Given the description of an element on the screen output the (x, y) to click on. 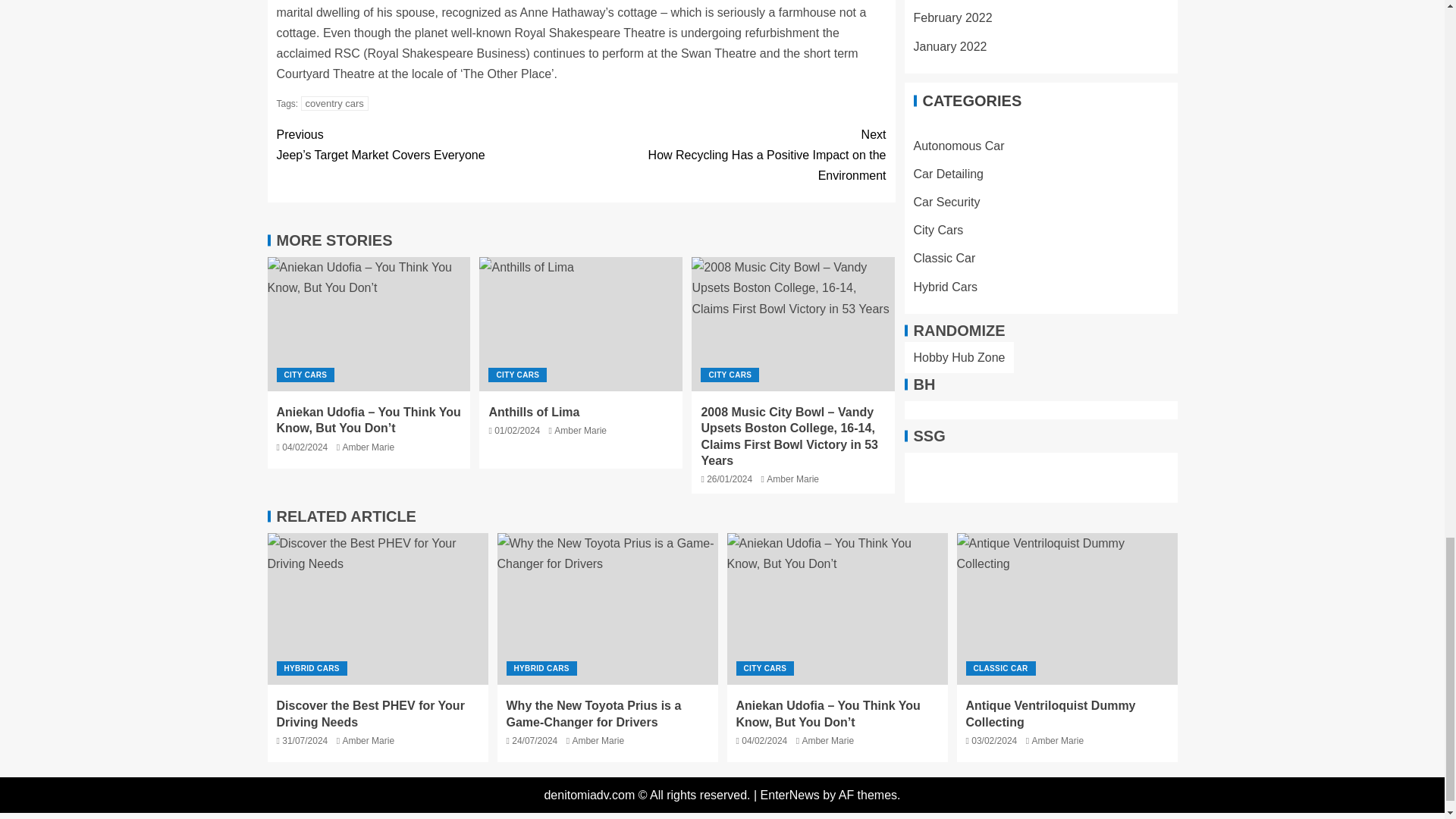
Anthills of Lima (580, 324)
Amber Marie (368, 447)
CITY CARS (732, 155)
Anthills of Lima (305, 374)
coventry cars (533, 411)
Discover the Best PHEV for Your Driving Needs (334, 103)
Amber Marie (376, 608)
Why the New Toyota Prius is a Game-Changer for Drivers (580, 430)
Amber Marie (607, 608)
Antique Ventriloquist Dummy Collecting (792, 479)
CITY CARS (1066, 608)
CITY CARS (517, 374)
